Given the description of an element on the screen output the (x, y) to click on. 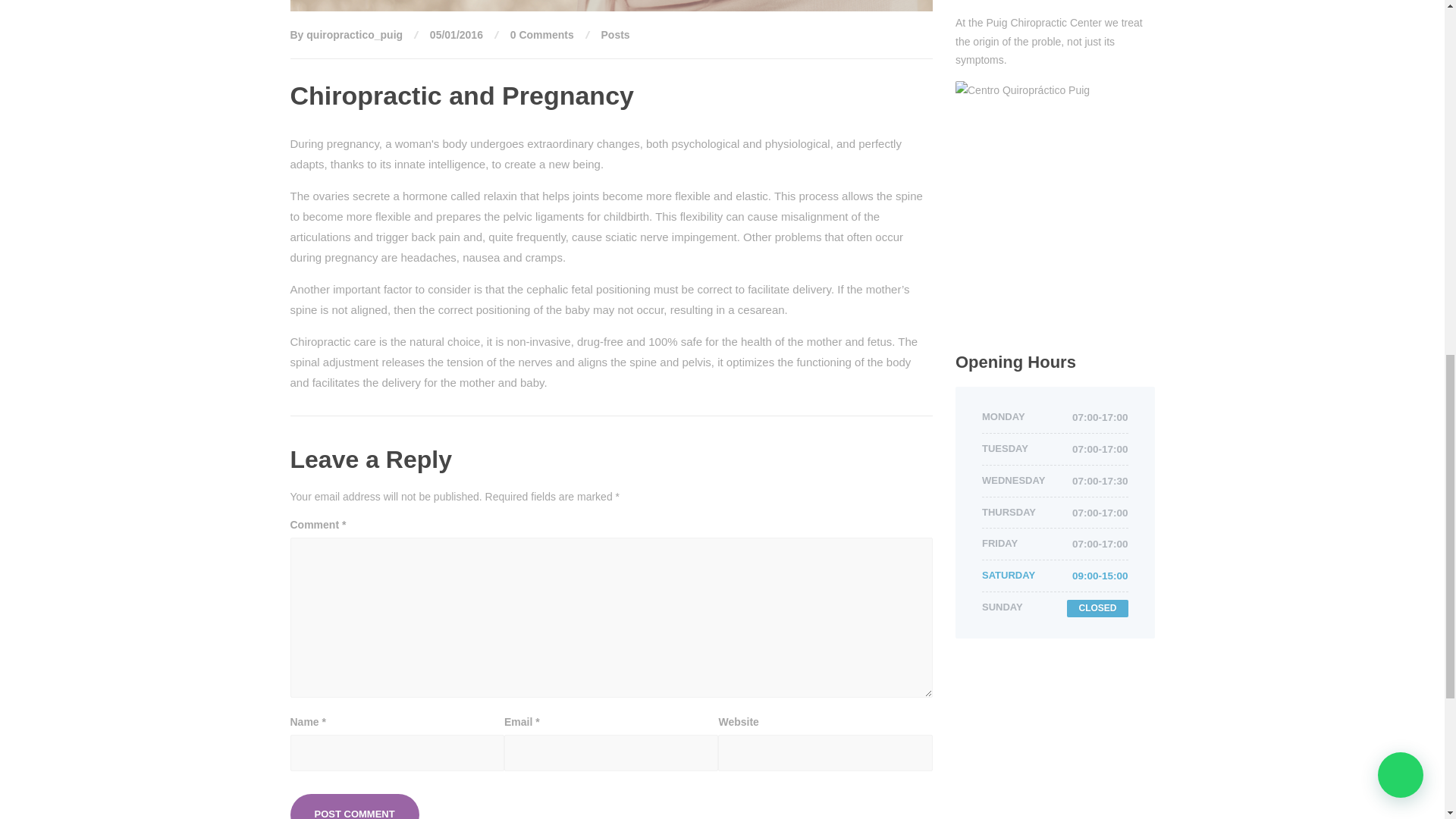
0 Comments (542, 34)
Post Comment (354, 806)
Posts (615, 34)
Post Comment (354, 806)
